Given the description of an element on the screen output the (x, y) to click on. 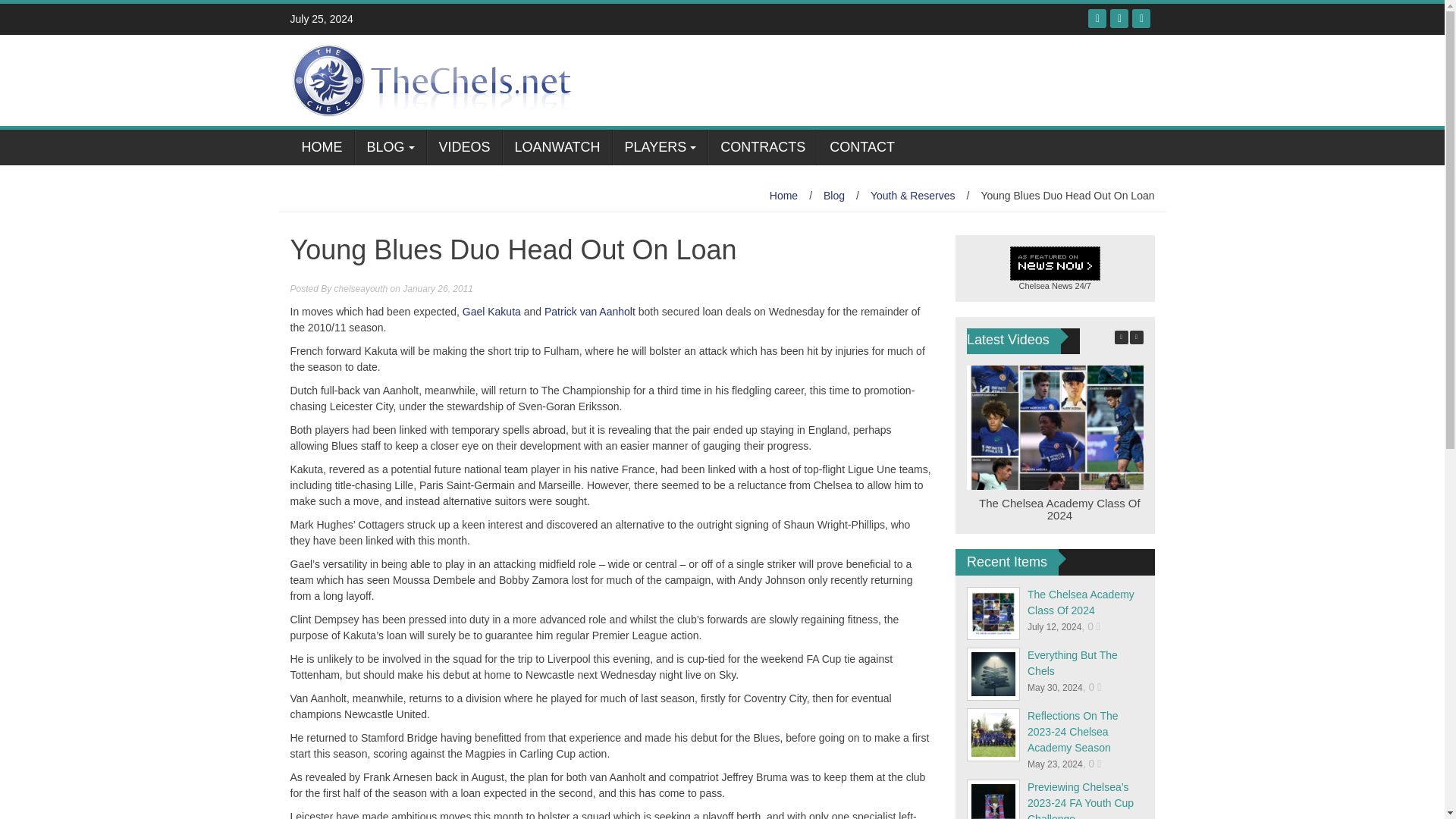
TheChels.net (434, 79)
Blog (834, 195)
CONTRACTS (761, 147)
Patrick van Aanholt (589, 311)
PLAYERS (659, 147)
Twitter (1118, 18)
LOANWATCH (556, 147)
Facebook (1096, 18)
Home (783, 195)
Posts by chelseayouth (361, 288)
Next (1135, 336)
CONTACT (860, 147)
The Chelsea Academy Class Of 2024 (1059, 509)
Chelsea News (1046, 285)
chelseayouth (361, 288)
